Given the description of an element on the screen output the (x, y) to click on. 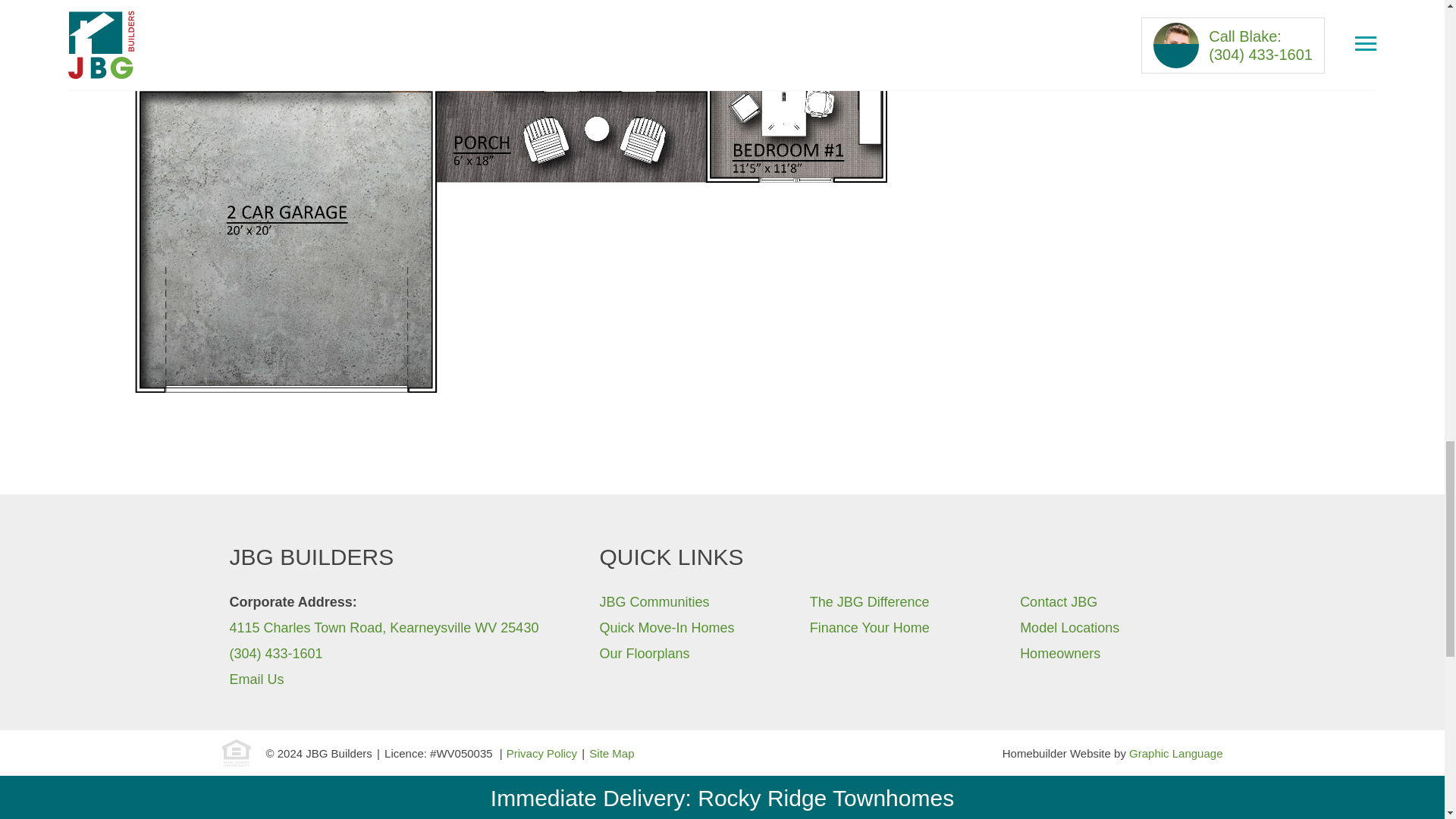
4115 Charles Town Road, Kearneysville WV 25430 (383, 627)
